Given the description of an element on the screen output the (x, y) to click on. 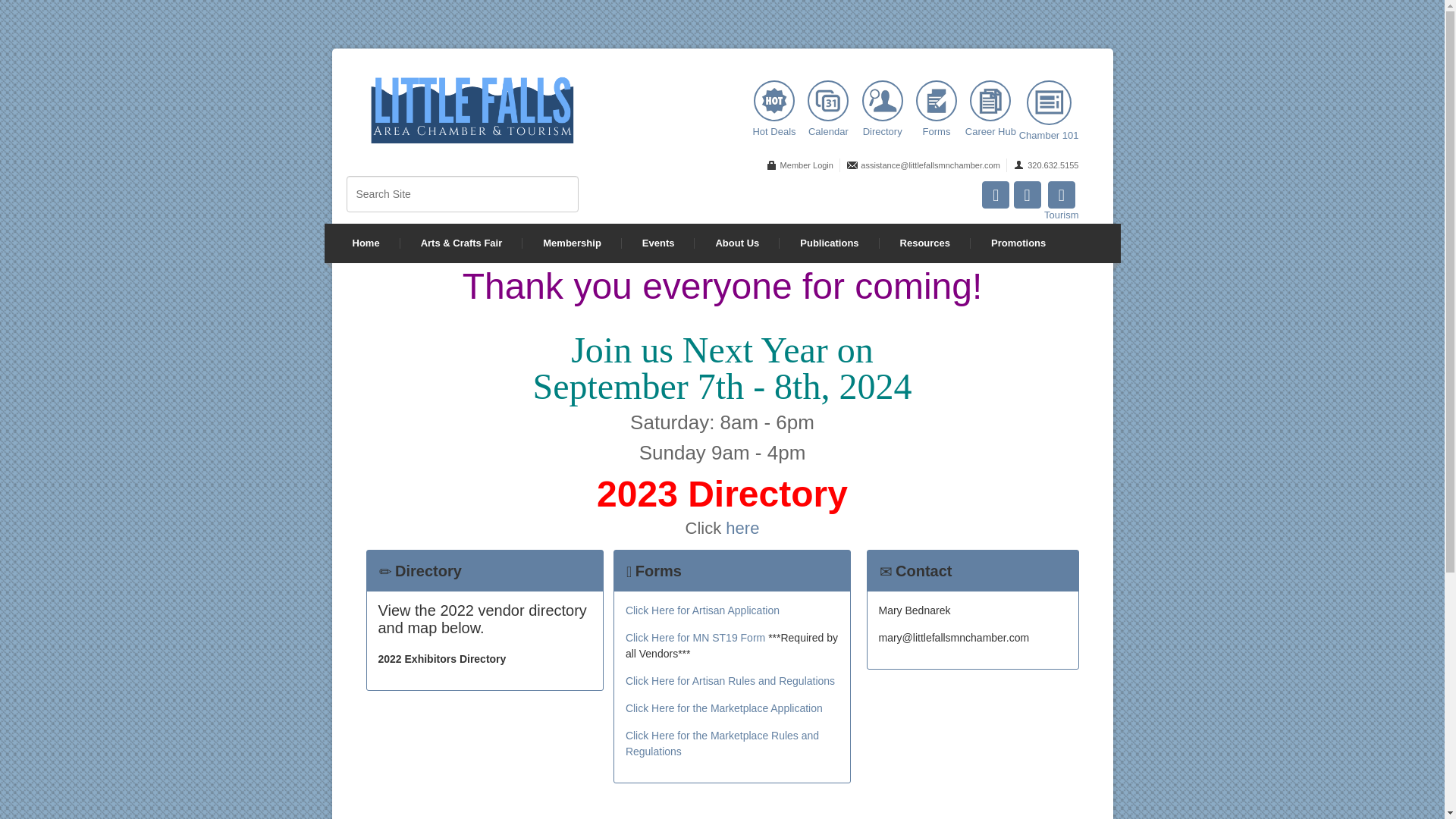
Member Login (797, 164)
Calendar (828, 100)
Home (365, 242)
Directory (881, 100)
Calendar (827, 108)
Chamber 101 (1048, 110)
Icon Link (995, 194)
Forms (935, 100)
Chamber 101 (1048, 102)
Hot Deals (773, 108)
Career Hub (989, 100)
Publications (828, 242)
Membership (571, 242)
Hot Deals (774, 100)
Forms (936, 108)
